Given the description of an element on the screen output the (x, y) to click on. 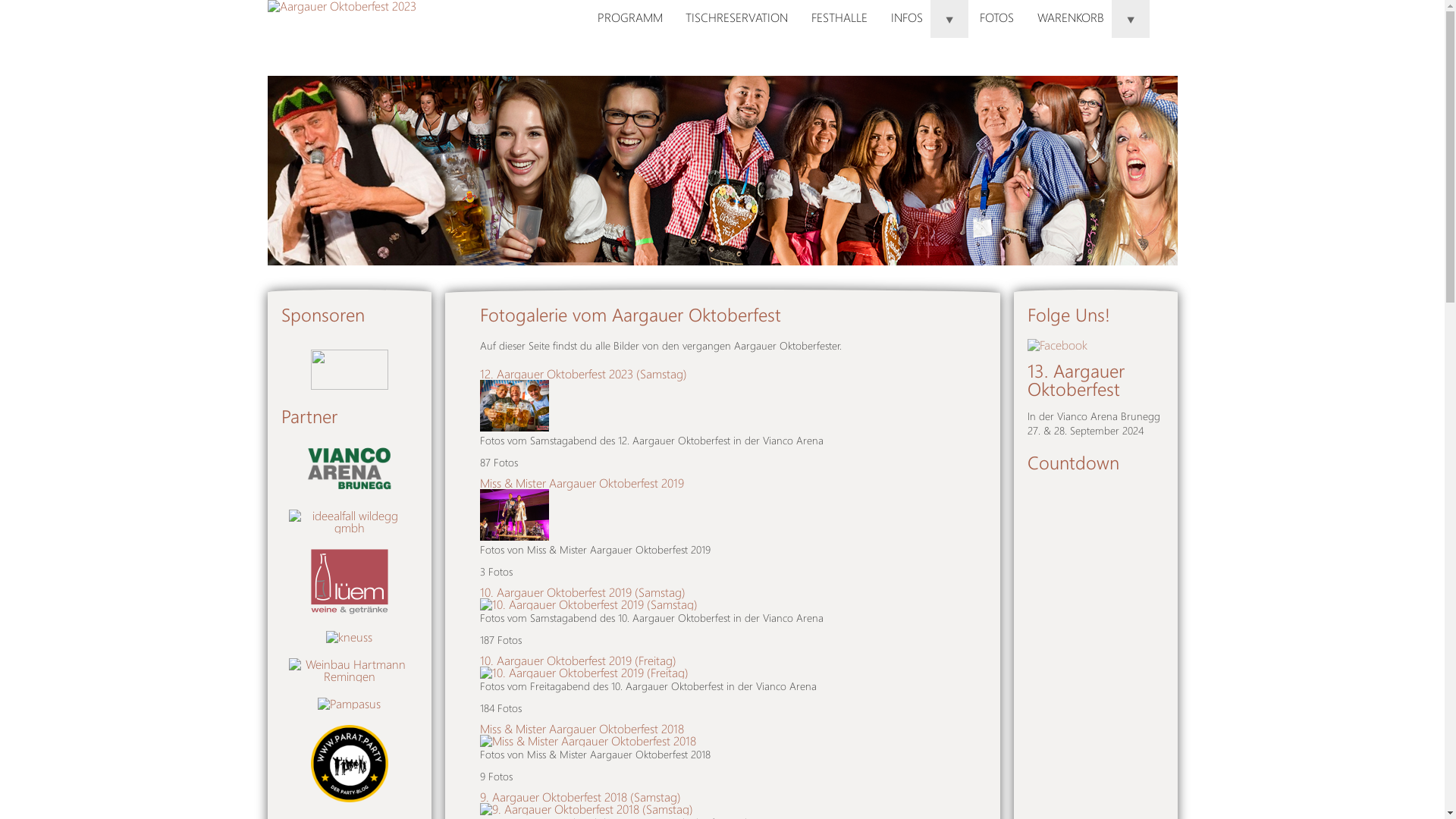
FOTOS Element type: text (997, 17)
12. Aargauer Oktoberfest 2023 (Samstag) Element type: text (582, 373)
10. Aargauer Oktoberfest 2019 (Freitag) Element type: text (577, 660)
Facebook Element type: hover (1056, 344)
9. Aargauer Oktoberfest 2018 (Samstag) Element type: text (579, 796)
PROGRAMM Element type: text (629, 17)
10. Aargauer Oktoberfest 2019 (Samstag) Element type: text (581, 591)
FESTHALLE Element type: text (839, 17)
Aargauer Oktoberfest 2023 Element type: hover (425, 28)
TISCHRESERVATION Element type: text (737, 17)
INFOS Element type: text (922, 17)
Miss & Mister Aargauer Oktoberfest 2018 Element type: text (581, 728)
WARENKORB Element type: text (1086, 17)
Miss & Mister Aargauer Oktoberfest 2019 Element type: text (581, 482)
